Given the description of an element on the screen output the (x, y) to click on. 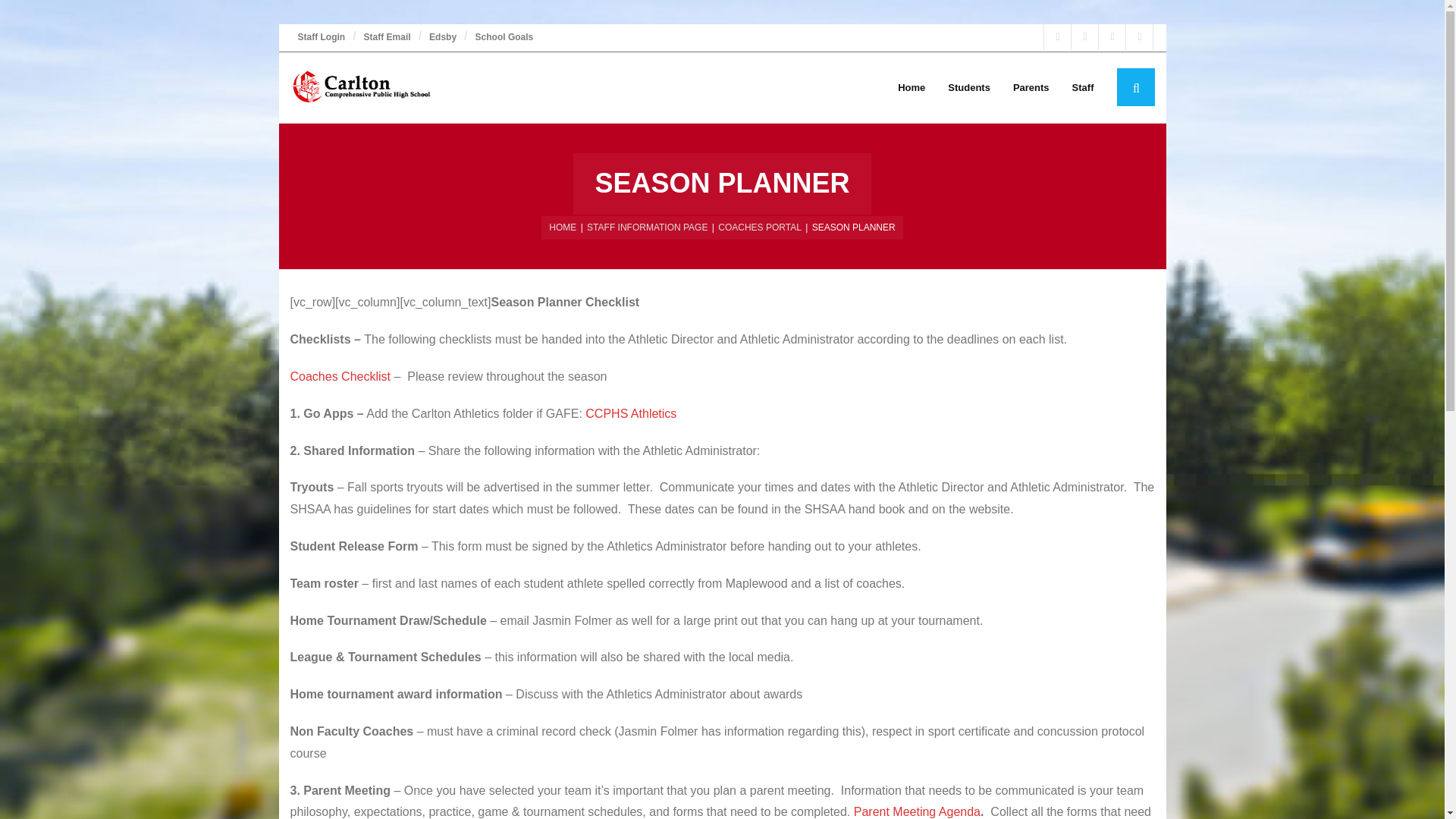
Edsby (443, 37)
Students (968, 87)
Staff Email (387, 37)
Staff Login (320, 37)
Search (44, 22)
School Goals (504, 37)
